Given the description of an element on the screen output the (x, y) to click on. 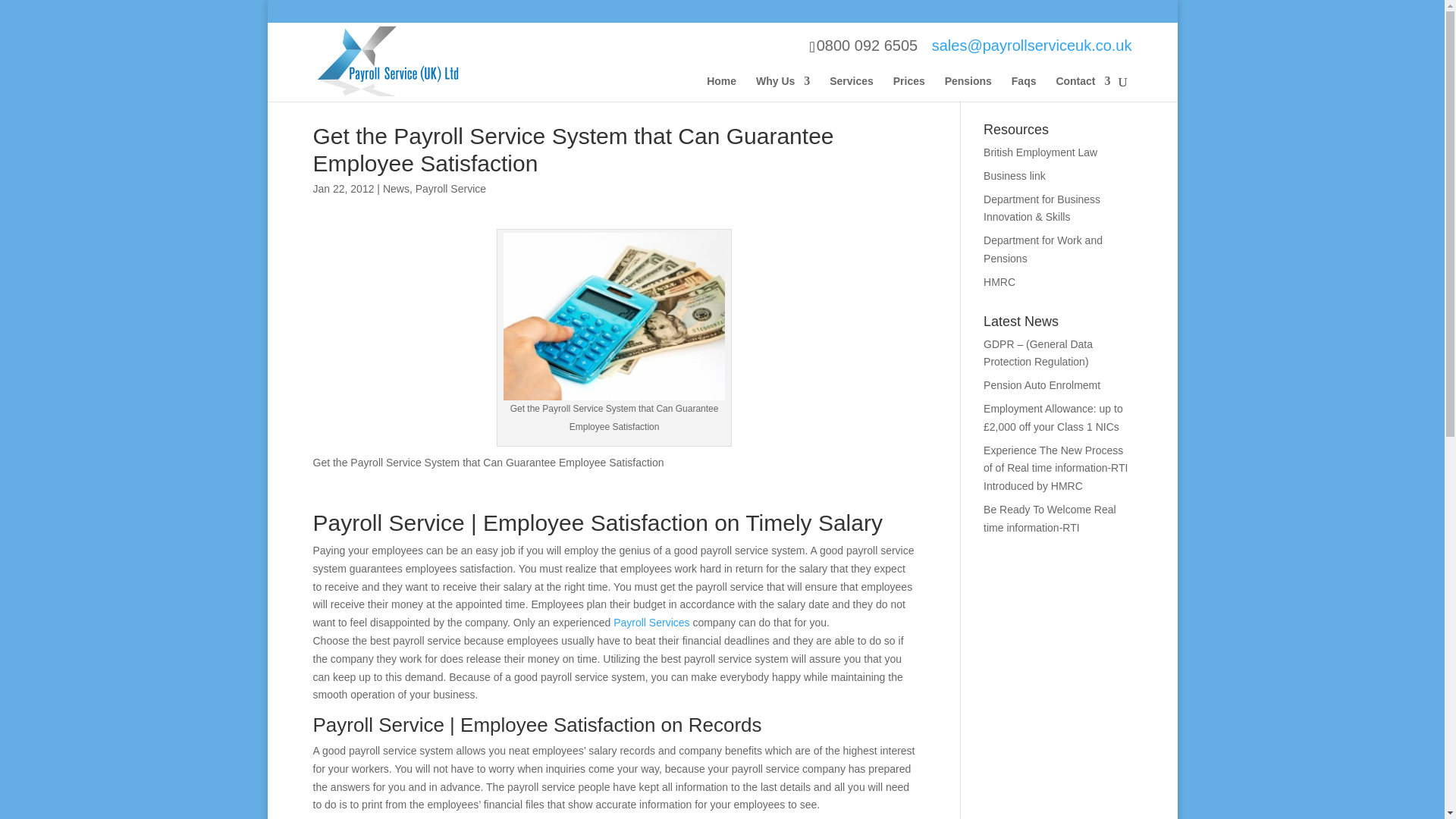
Pension Auto Enrolmemt (1042, 385)
Services (851, 88)
News (395, 188)
Faqs (1023, 88)
Contact (1082, 88)
Be Ready To Welcome Real time information-RTI (1050, 518)
Business link (1014, 175)
Why Us (782, 88)
British Employment Law (1040, 152)
Home (721, 88)
Pensions (967, 88)
HMRC (999, 282)
Department for Work and Pensions (1043, 249)
